Given the description of an element on the screen output the (x, y) to click on. 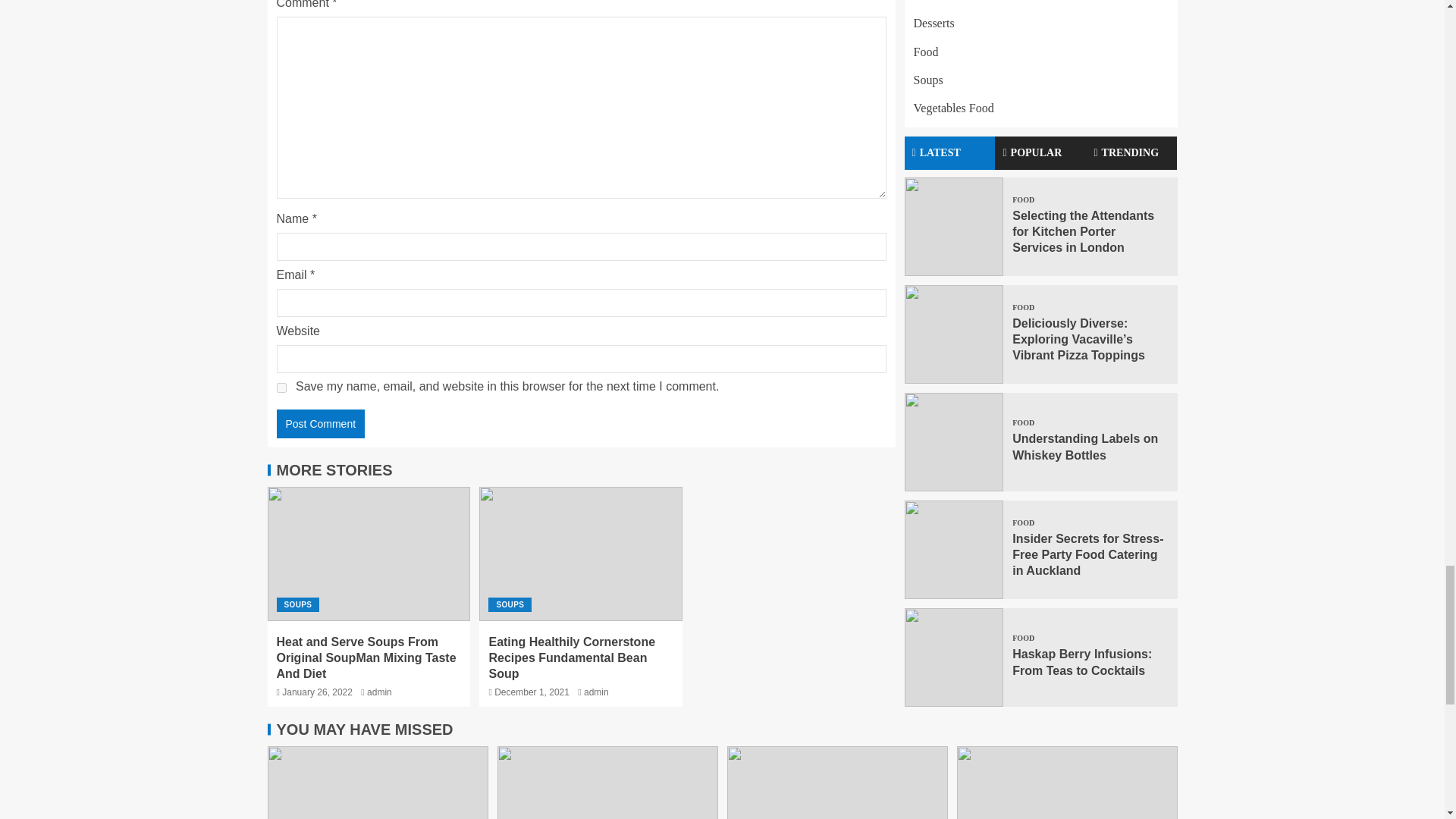
Eating Healthily Cornerstone Recipes Fundamental Bean Soup (571, 657)
SOUPS (297, 604)
yes (280, 388)
admin (595, 692)
SOUPS (509, 604)
Post Comment (320, 423)
admin (378, 692)
Post Comment (320, 423)
